Given the description of an element on the screen output the (x, y) to click on. 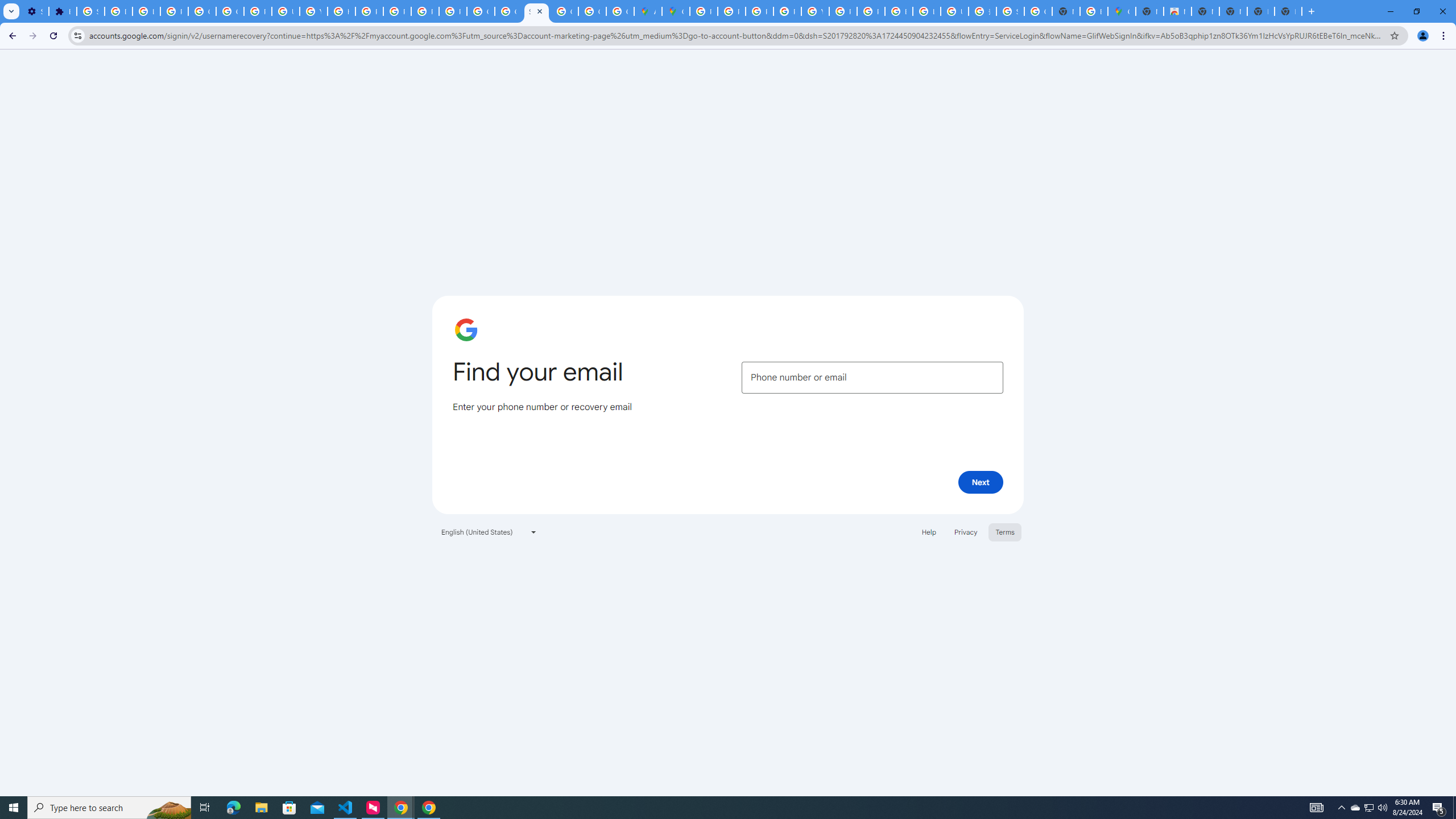
Policy Accountability and Transparency - Transparency Center (703, 11)
Sign in - Google Accounts (536, 11)
Extensions (62, 11)
New Tab (1288, 11)
Browse Chrome as a guest - Computer - Google Chrome Help (898, 11)
New Tab (1150, 11)
